Given the description of an element on the screen output the (x, y) to click on. 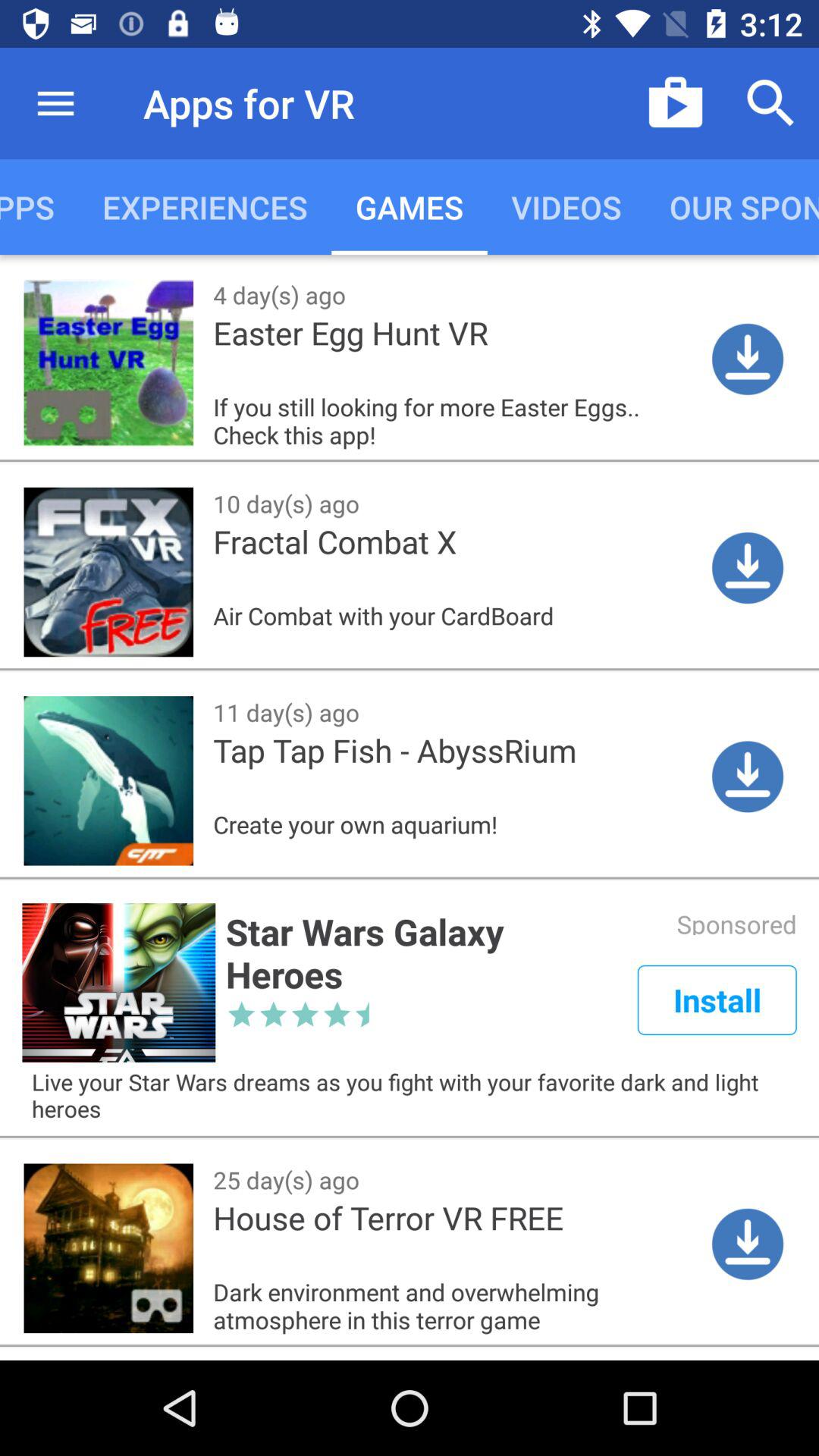
click the icon to the right of the apps for vr item (675, 103)
